Given the description of an element on the screen output the (x, y) to click on. 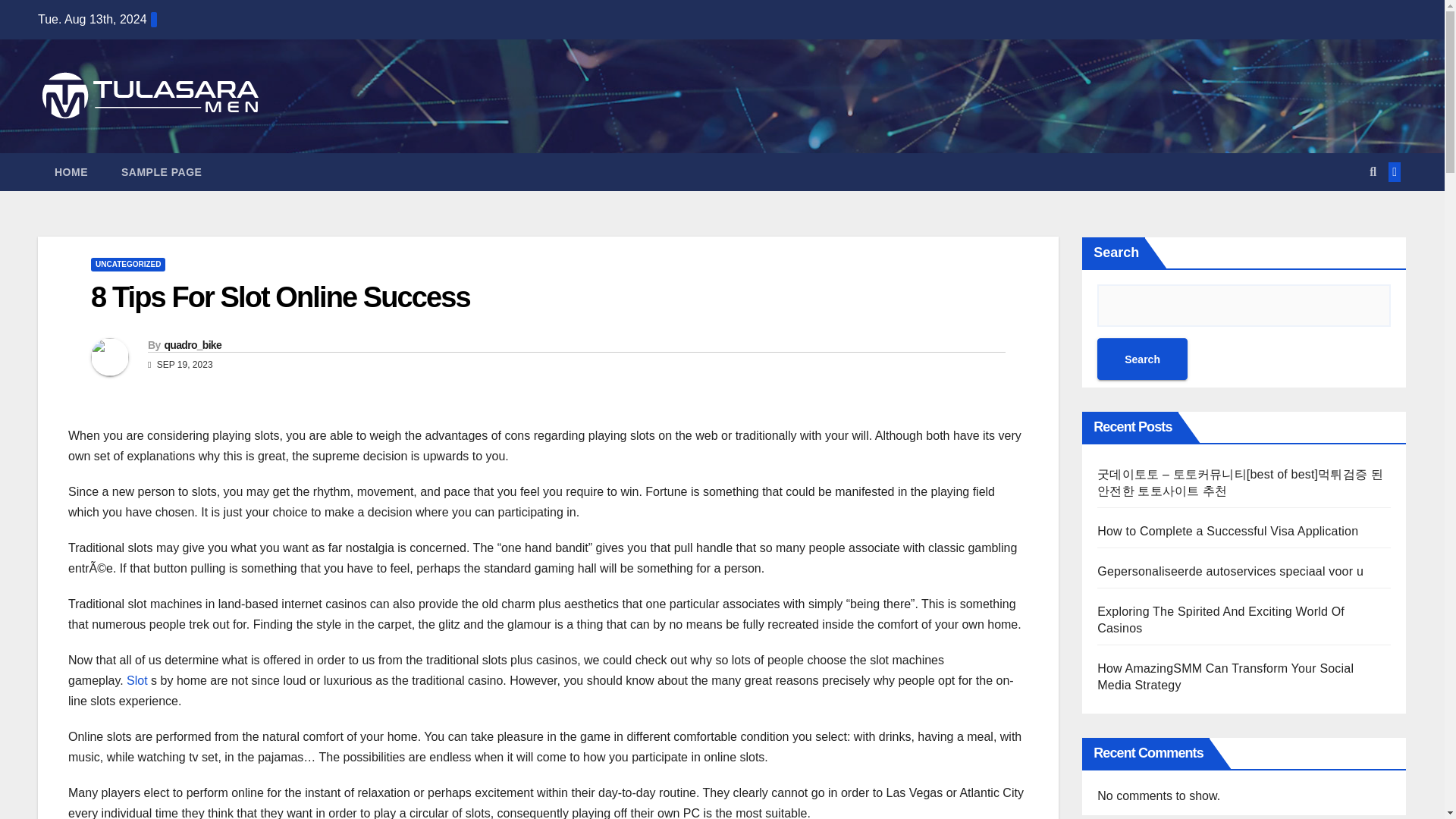
HOME (70, 171)
SAMPLE PAGE (161, 171)
Permalink to: 8 Tips For Slot Online Success (280, 296)
UNCATEGORIZED (127, 264)
Slot (137, 680)
8 Tips For Slot Online Success (280, 296)
Home (70, 171)
